Given the description of an element on the screen output the (x, y) to click on. 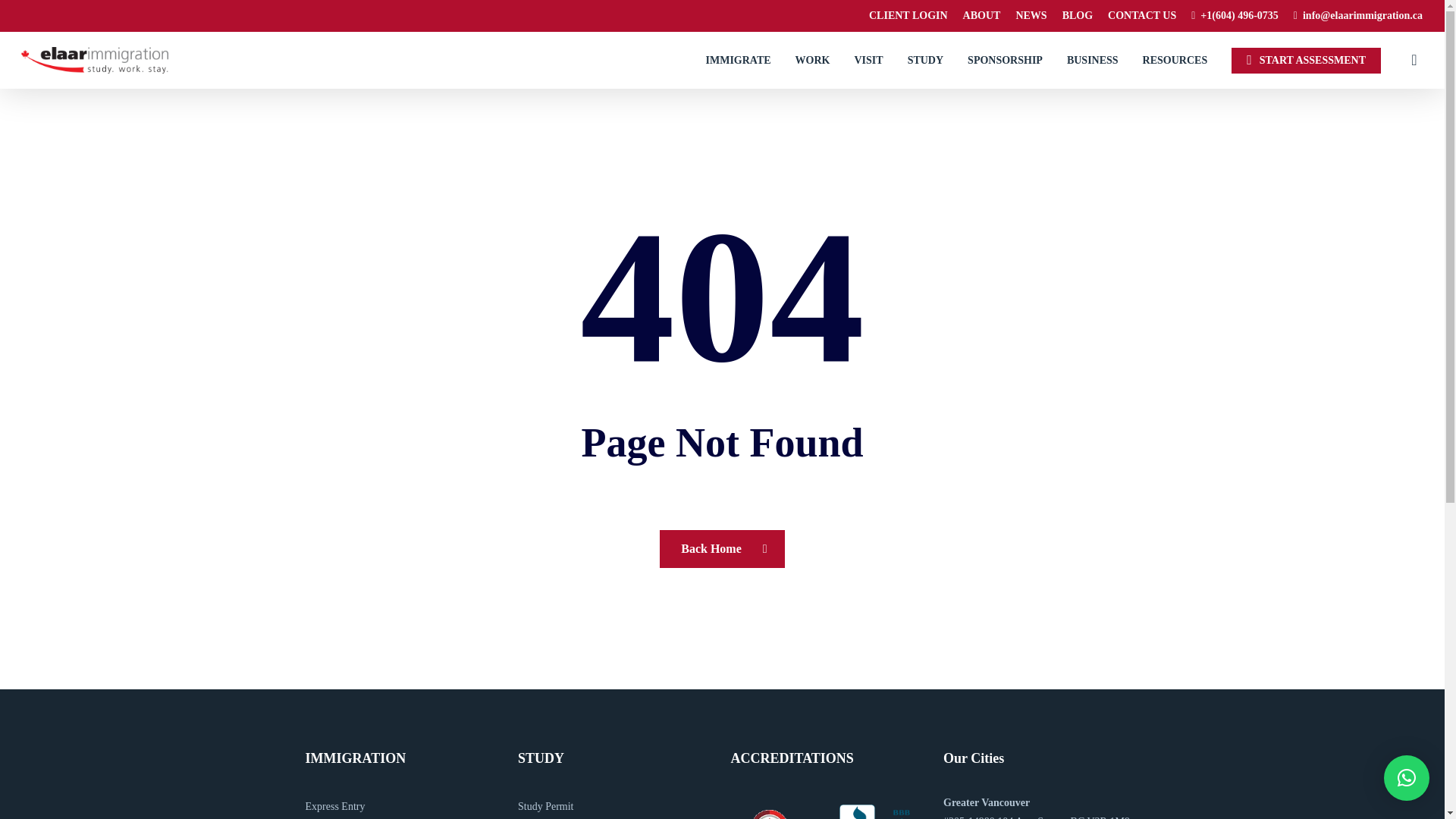
CONTACT US (1142, 15)
CLIENT LOGIN (908, 15)
IMMIGRATE (738, 60)
ABOUT (981, 15)
NEWS (1030, 15)
BLOG (1077, 15)
